Given the description of an element on the screen output the (x, y) to click on. 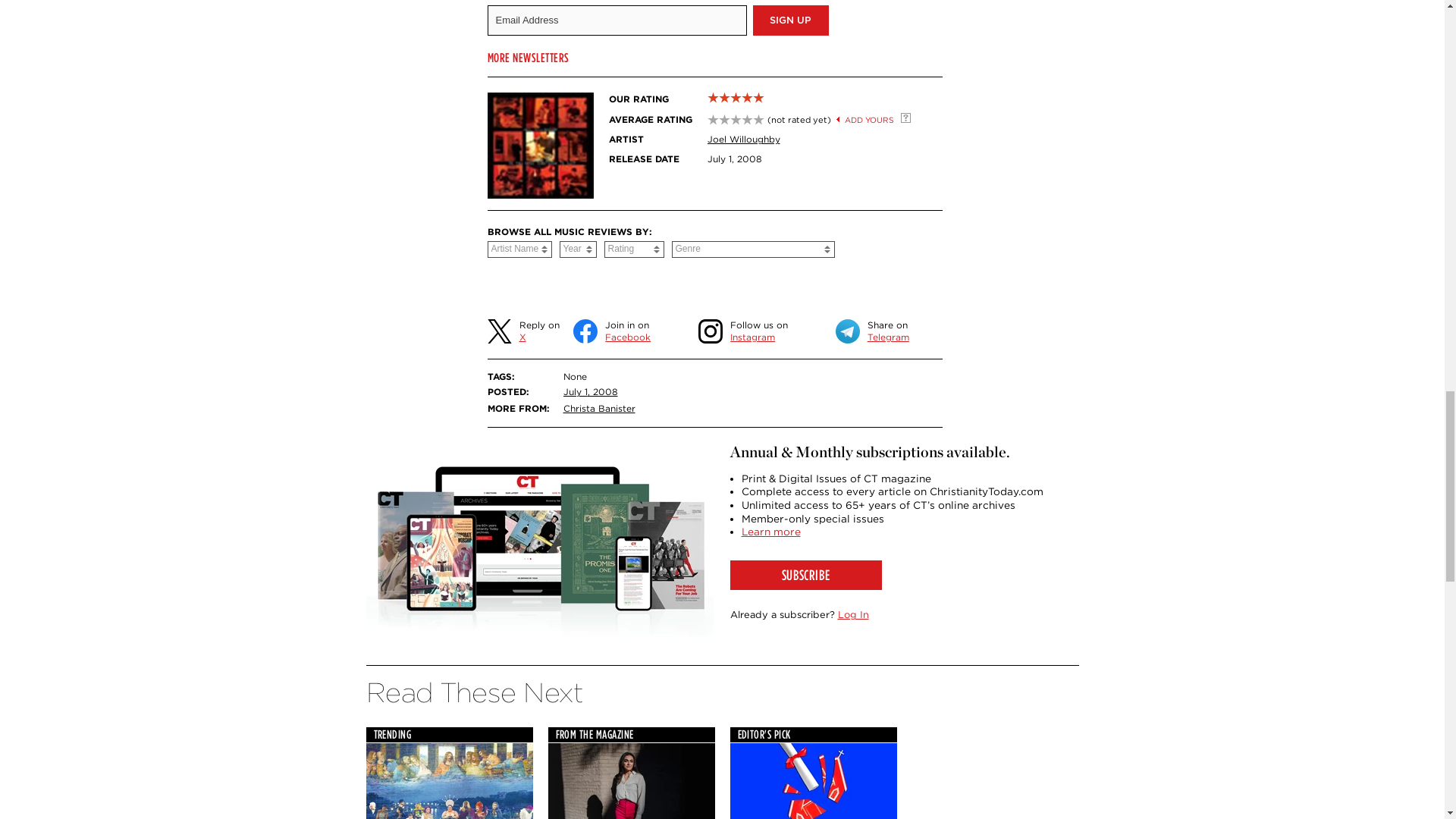
Email Address (615, 20)
Sign Up (790, 20)
